Given the description of an element on the screen output the (x, y) to click on. 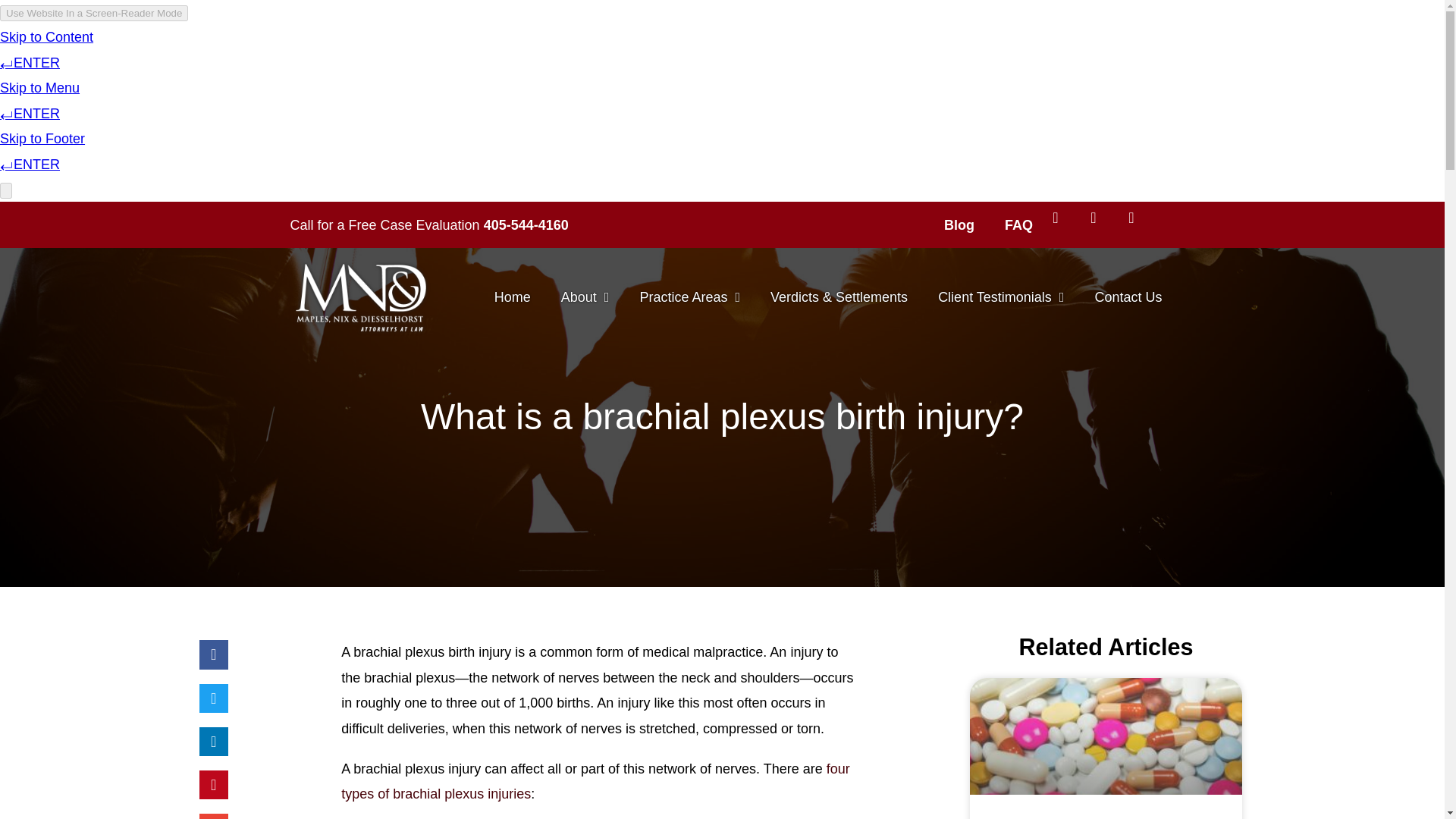
Call for a Free Case Evaluation 405-544-4160 (571, 225)
FAQ (1019, 225)
Blog (959, 225)
Twitter (1101, 224)
Instagram (1139, 224)
Facebook-f (1063, 224)
